Given the description of an element on the screen output the (x, y) to click on. 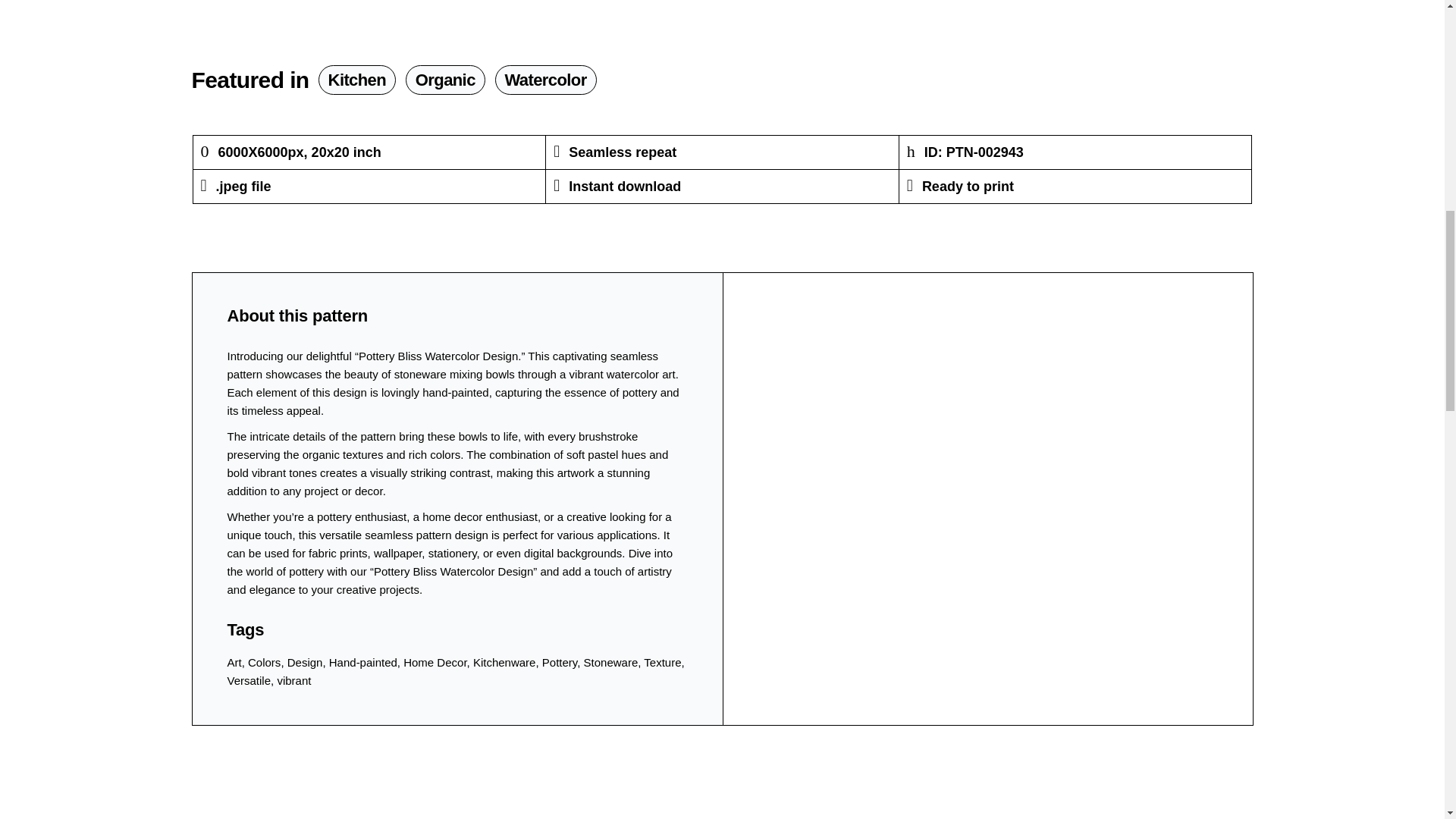
Watercolor (545, 80)
Hand-painted (363, 662)
Design (304, 662)
Organic (445, 80)
Colors (264, 662)
Art (234, 662)
Home Decor (434, 662)
Kitchen (357, 80)
